Given the description of an element on the screen output the (x, y) to click on. 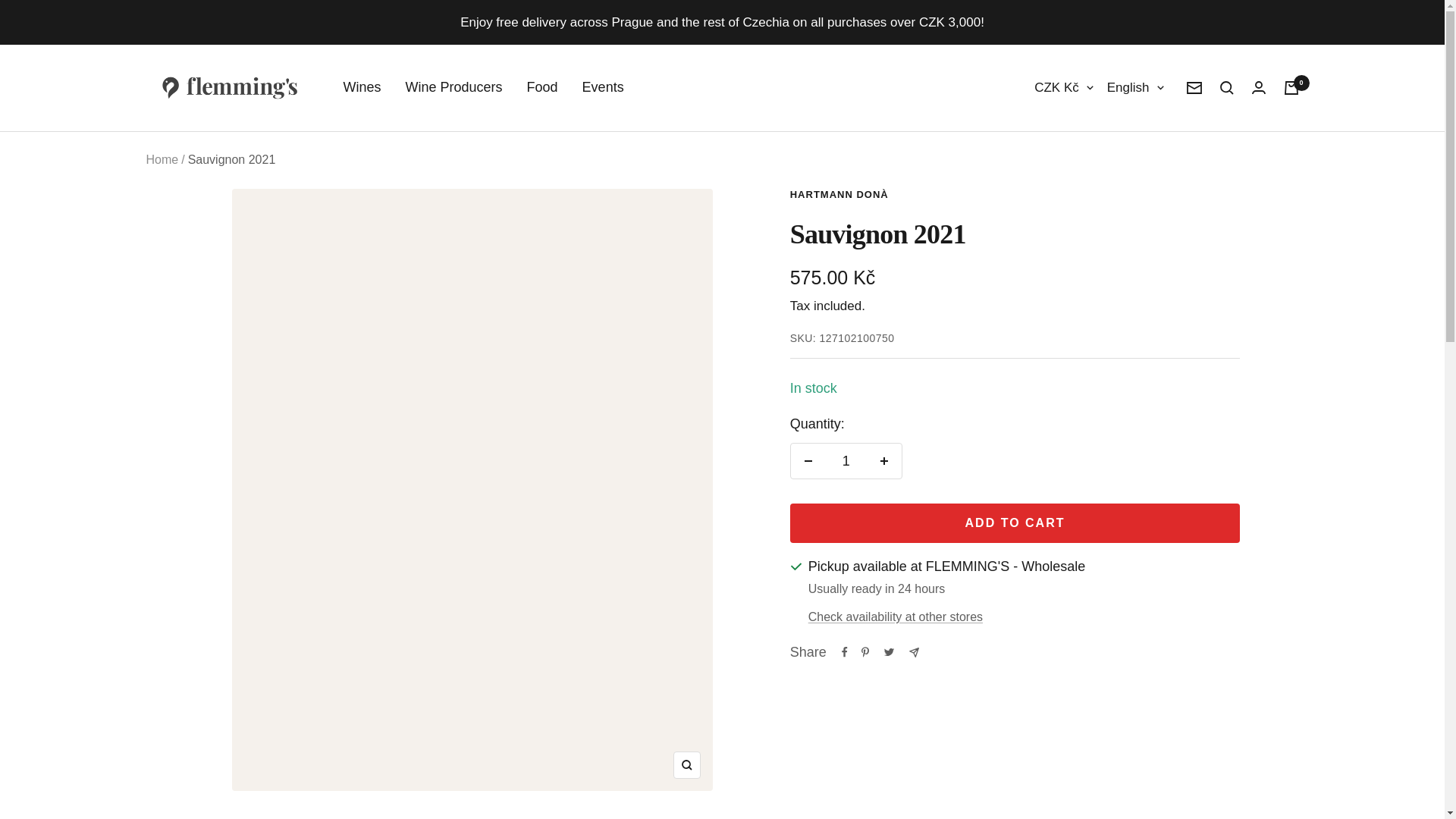
Events (603, 87)
Flemmings.wine (229, 87)
Zoom (686, 764)
CZK (1057, 143)
ADD TO CART (1015, 522)
cs (1127, 173)
Wine Producers (454, 87)
1 (845, 460)
Decrease quantity (807, 460)
Food (542, 87)
